Given the description of an element on the screen output the (x, y) to click on. 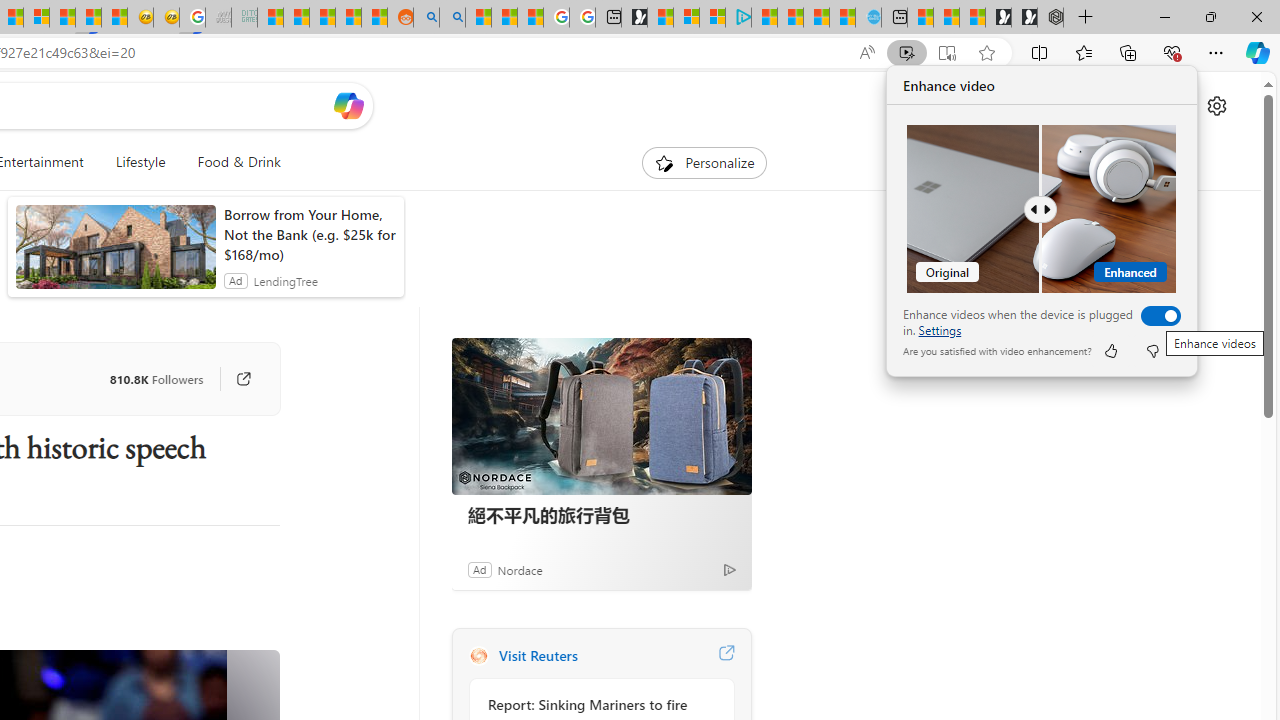
Nordace (519, 569)
Lifestyle (140, 162)
Copilot (Ctrl+Shift+.) (1258, 52)
Play Free Online Games | Games from Microsoft Start (1024, 17)
dislike (1152, 350)
Visit Reuters website (726, 655)
Dislike (1152, 350)
Minimize (1164, 16)
